Given the description of an element on the screen output the (x, y) to click on. 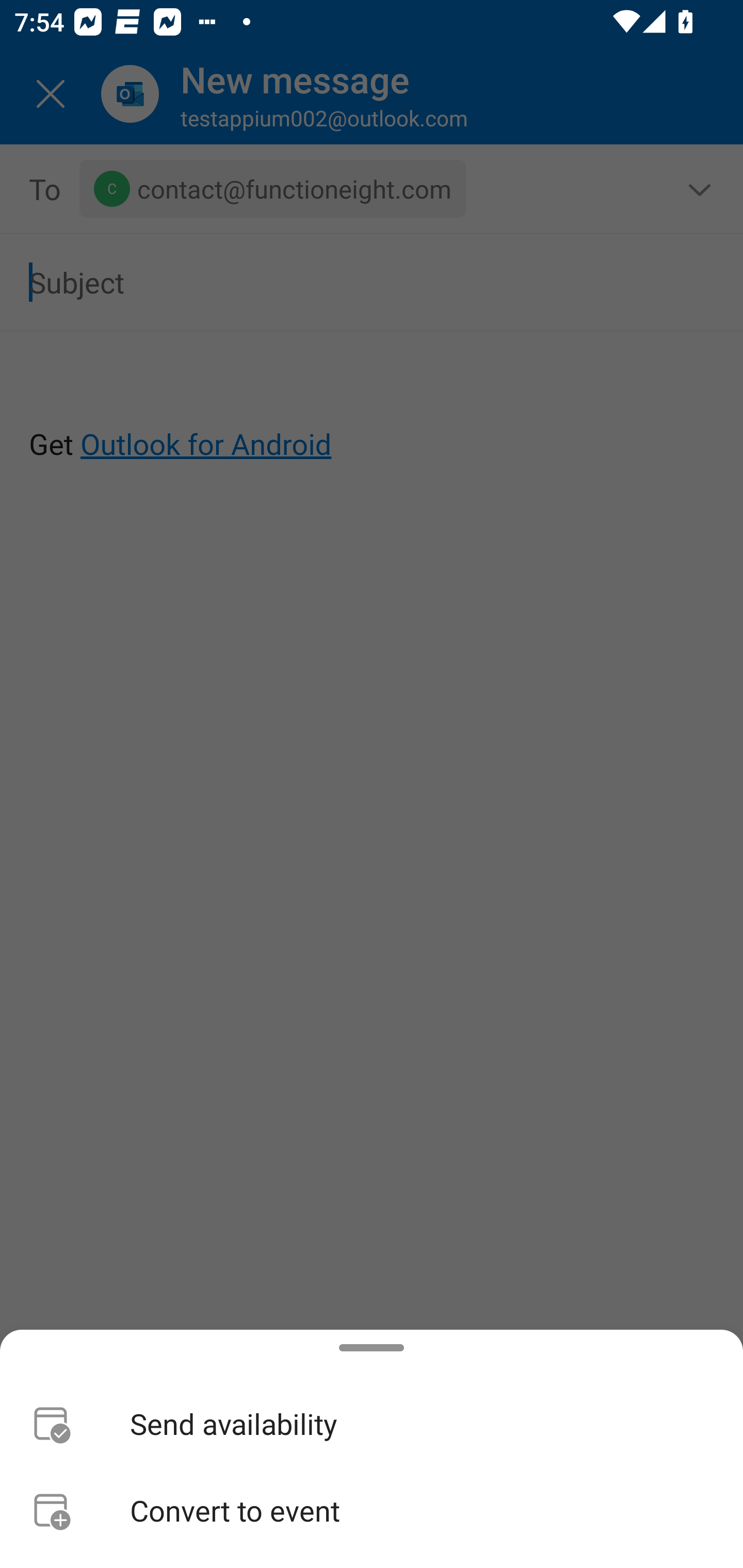
Send availability (371, 1423)
Convert to event (371, 1510)
